Given the description of an element on the screen output the (x, y) to click on. 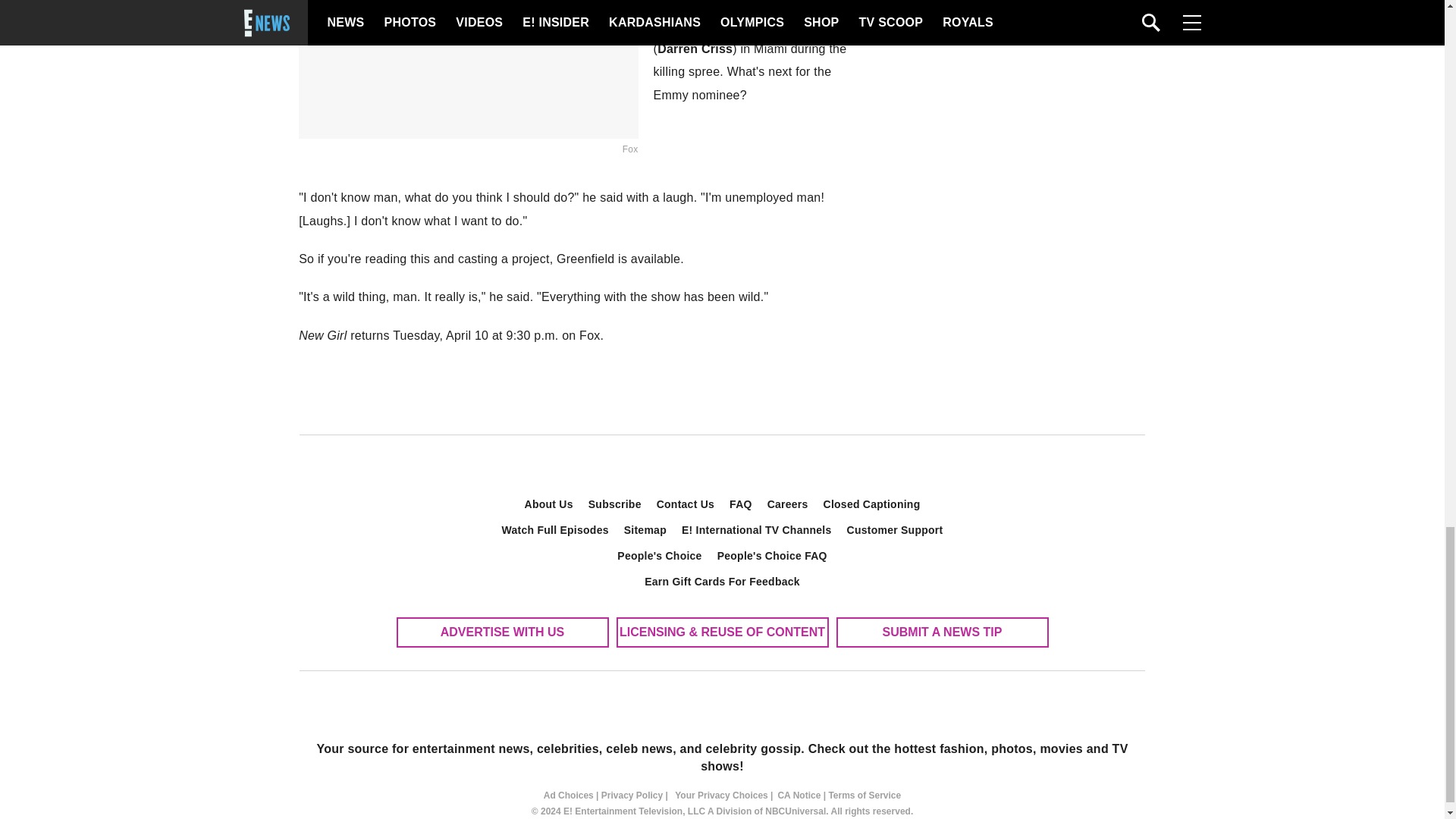
FAQ (741, 503)
Subscribe (614, 503)
Contact Us (685, 503)
About Us (548, 503)
